Given the description of an element on the screen output the (x, y) to click on. 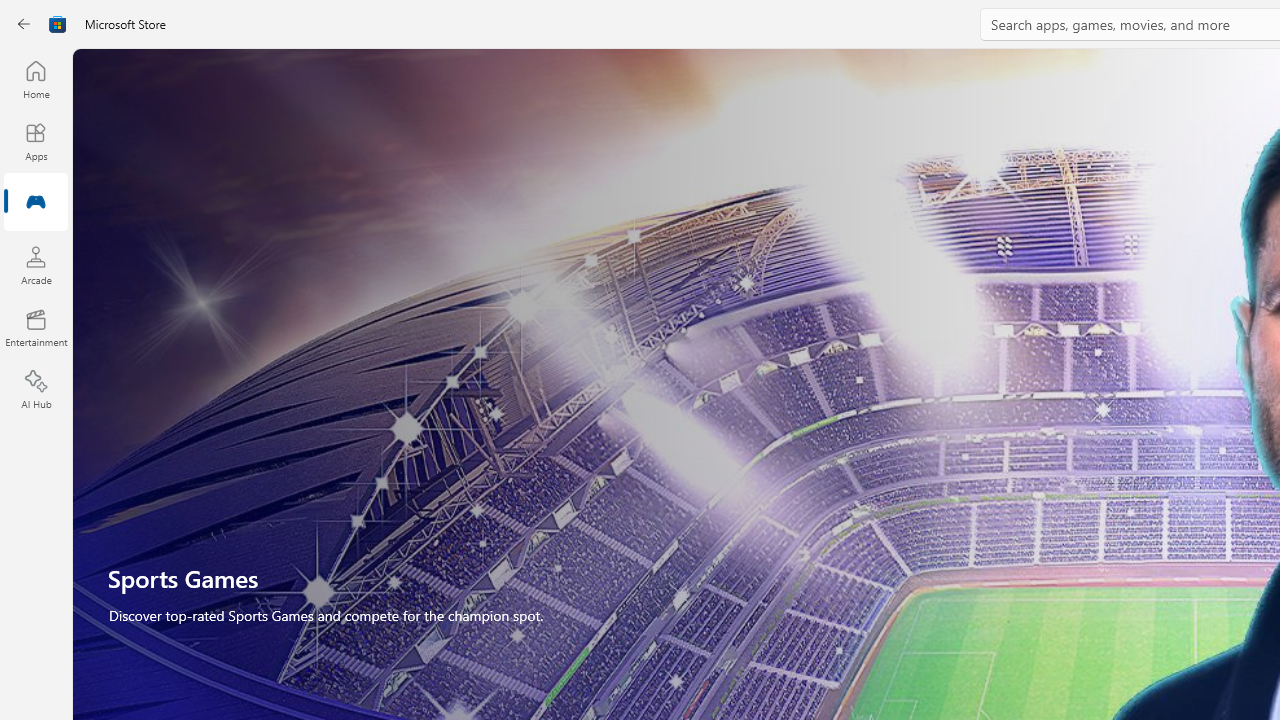
Back (24, 24)
